Given the description of an element on the screen output the (x, y) to click on. 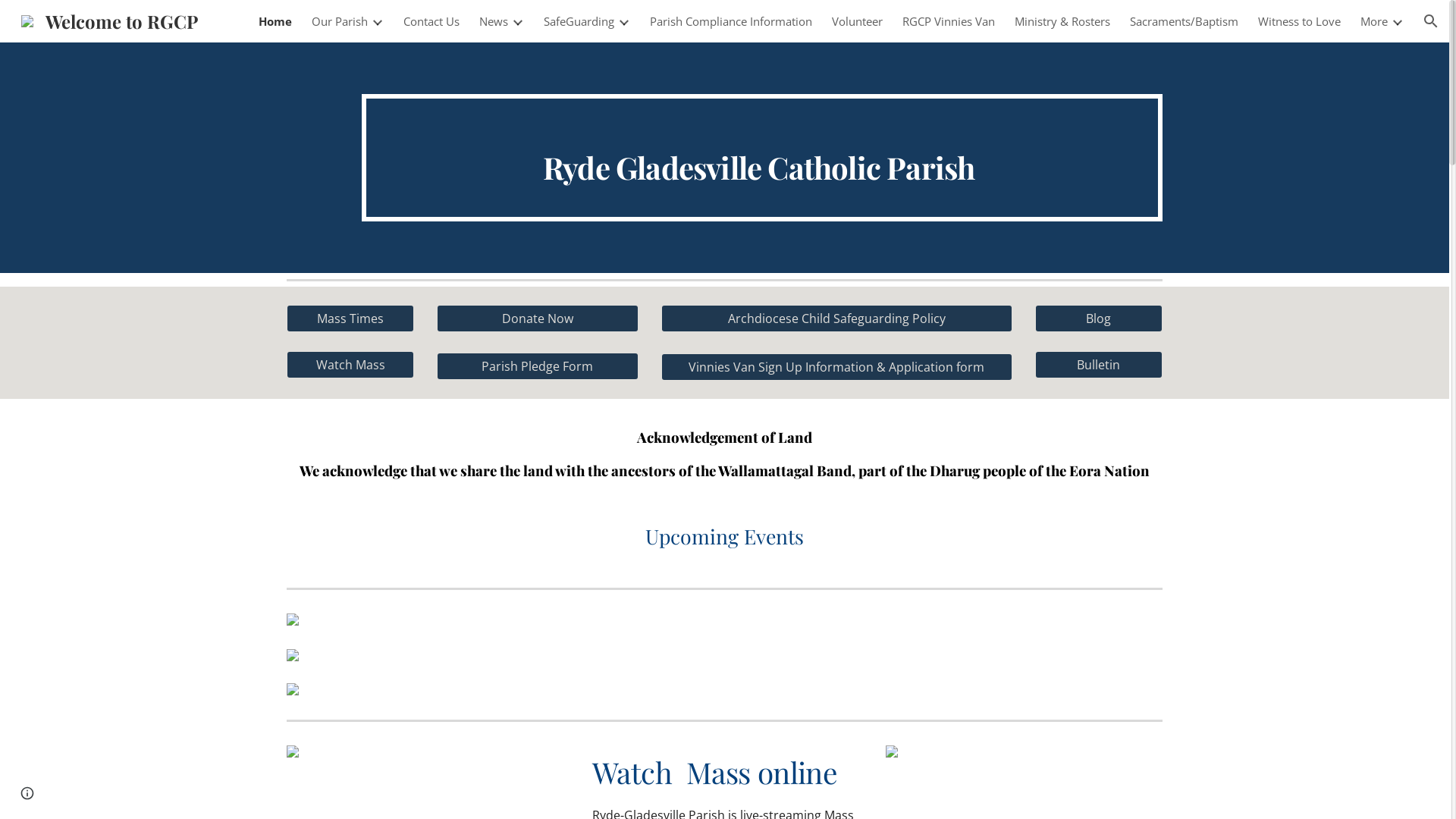
Sacraments/Baptism Element type: text (1183, 20)
News Element type: text (493, 20)
Parish Pledge Form Element type: text (537, 365)
Donate Now Element type: text (537, 318)
SafeGuarding Element type: text (578, 20)
Vinnies Van Sign Up Information & Application form Element type: text (837, 366)
Archdiocese Child Safeguarding Policy Element type: text (837, 318)
More Element type: text (1373, 20)
Watch Mass Element type: text (350, 364)
Our Parish Element type: text (339, 20)
Witness to Love Element type: text (1299, 20)
RGCP Vinnies Van Element type: text (948, 20)
Expand/Collapse Element type: hover (623, 20)
Welcome to RGCP Element type: text (109, 18)
Bulletin Element type: text (1098, 364)
Expand/Collapse Element type: hover (376, 20)
Ministry & Rosters Element type: text (1062, 20)
Expand/Collapse Element type: hover (517, 20)
Home Element type: text (274, 20)
Blog Element type: text (1098, 318)
Expand/Collapse Element type: hover (1396, 20)
Mass Times Element type: text (350, 318)
Parish Compliance Information Element type: text (730, 20)
Volunteer Element type: text (856, 20)
Contact Us Element type: text (431, 20)
